Given the description of an element on the screen output the (x, y) to click on. 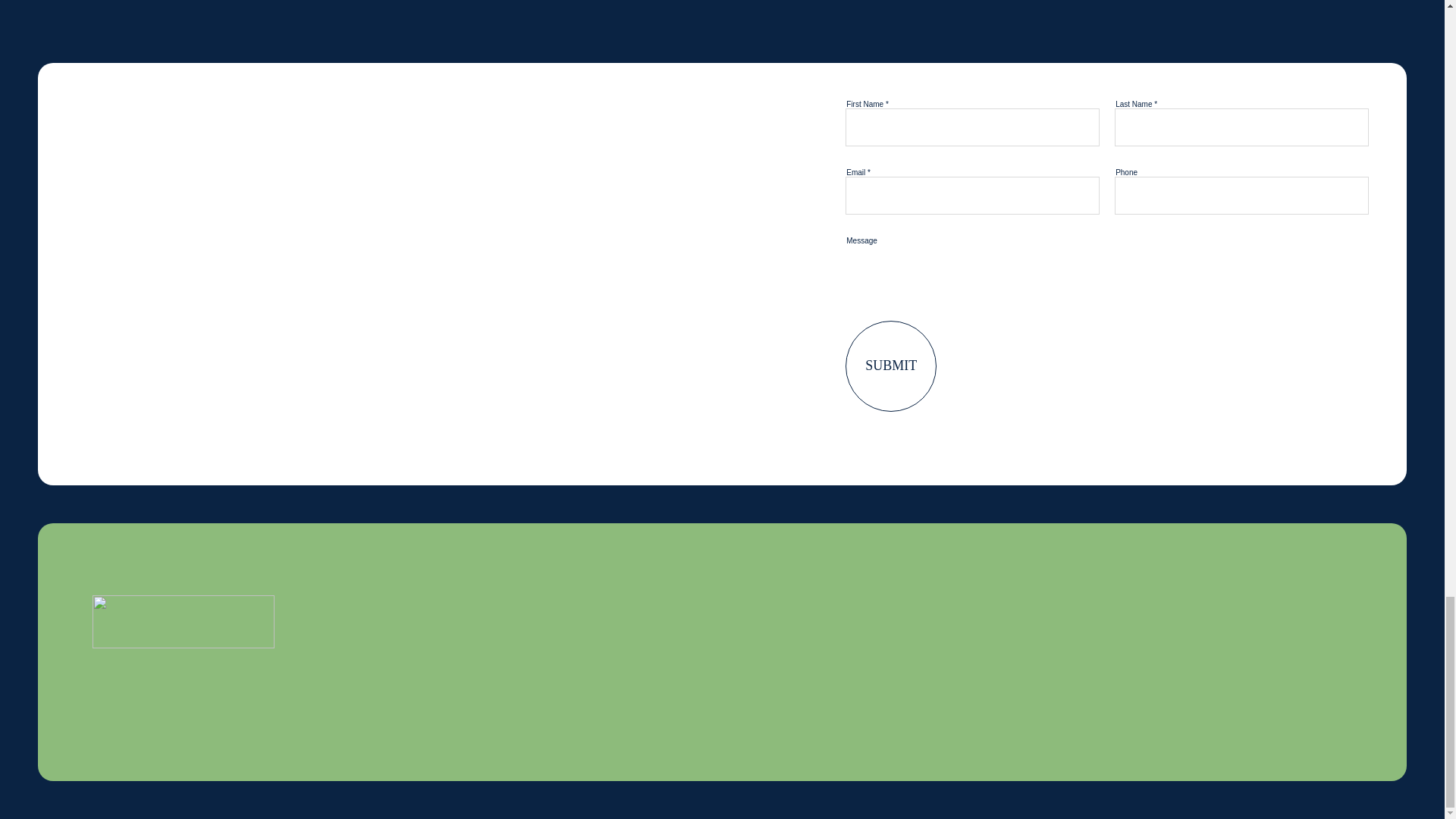
SUBMIT (890, 366)
